Given the description of an element on the screen output the (x, y) to click on. 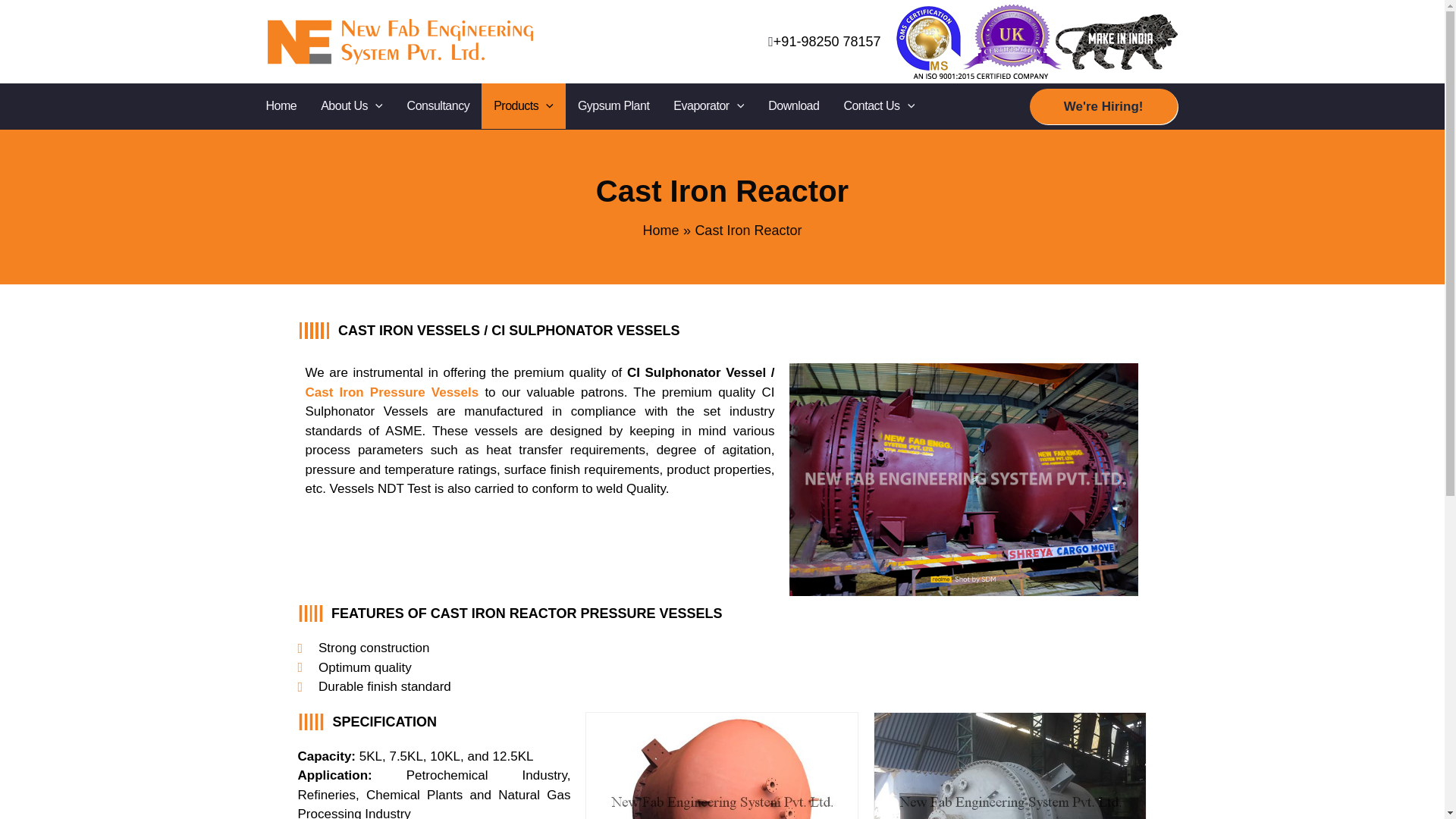
Contact Us (878, 105)
Download (793, 105)
Products (523, 105)
Consultancy (437, 105)
Evaporator (708, 105)
Home (280, 105)
Gypsum Plant (613, 105)
About Us (351, 105)
